Given the description of an element on the screen output the (x, y) to click on. 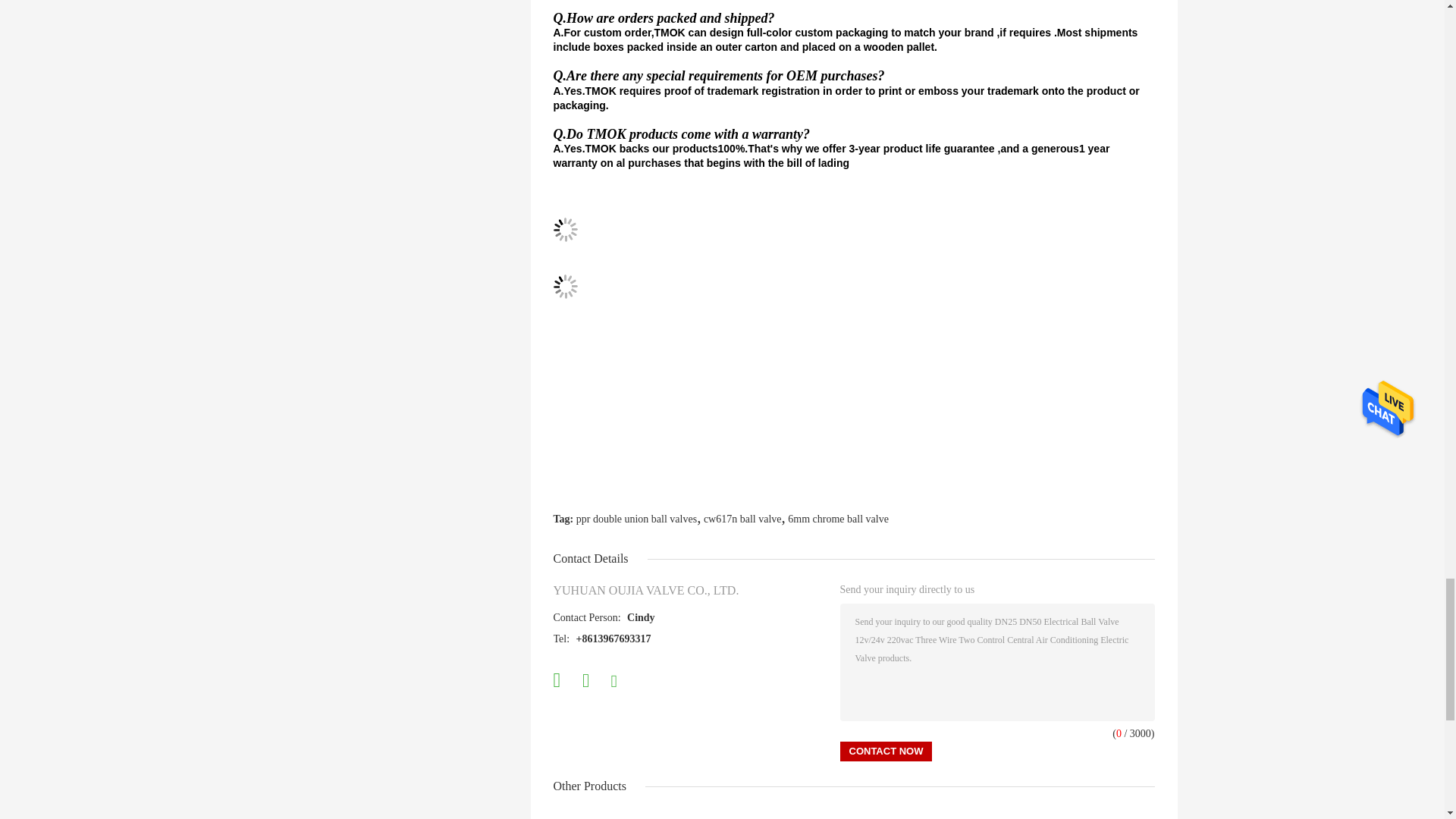
Contact Now (886, 751)
